Given the description of an element on the screen output the (x, y) to click on. 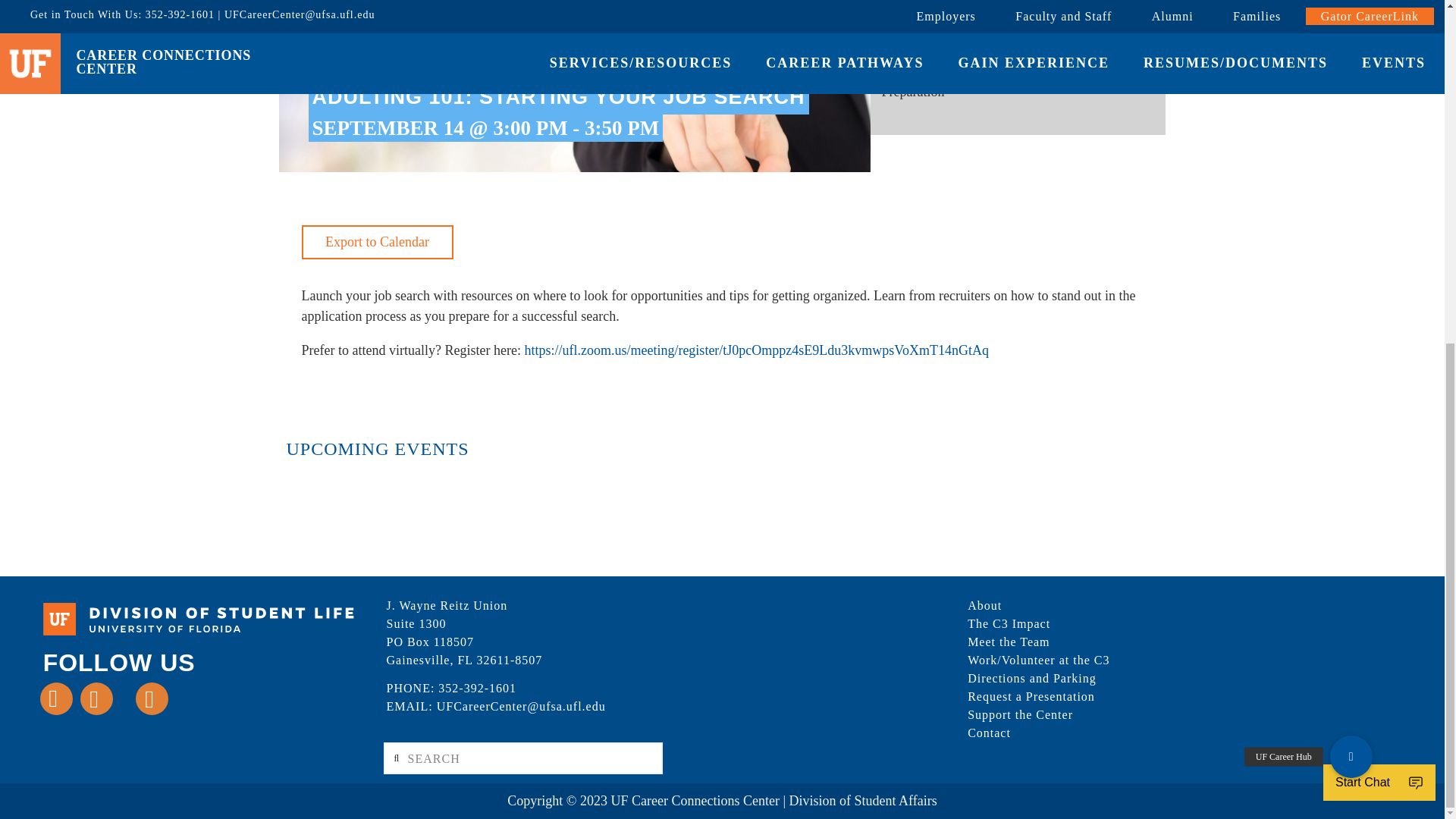
Facebook (56, 698)
Instagram (151, 698)
LinkedIn (124, 702)
Twitter (96, 698)
SoundCloud (179, 702)
Export to Calendar (376, 242)
